Given the description of an element on the screen output the (x, y) to click on. 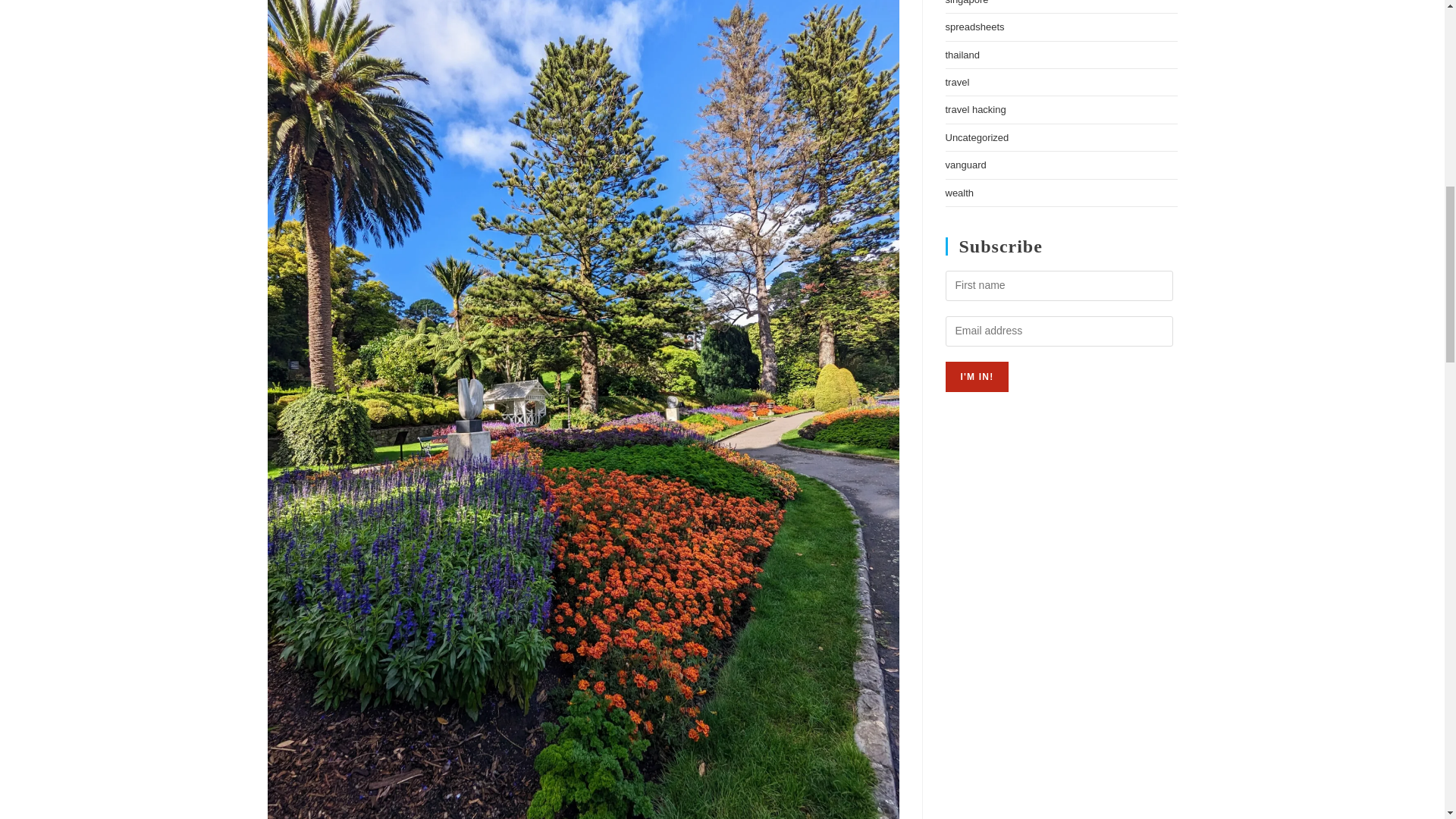
I'm in! (976, 376)
